Given the description of an element on the screen output the (x, y) to click on. 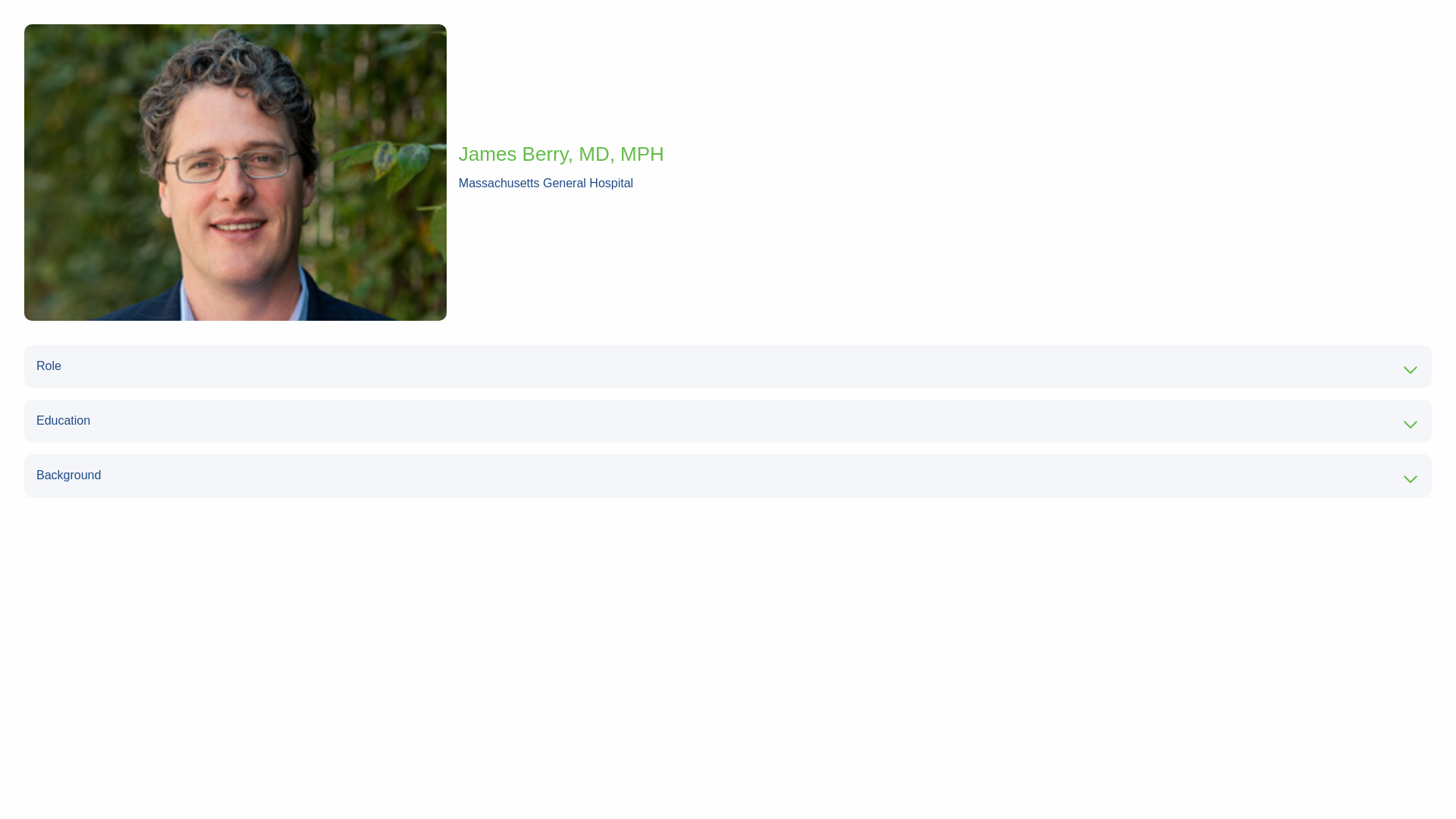
Education (727, 420)
Role (727, 365)
Background (727, 475)
